Given the description of an element on the screen output the (x, y) to click on. 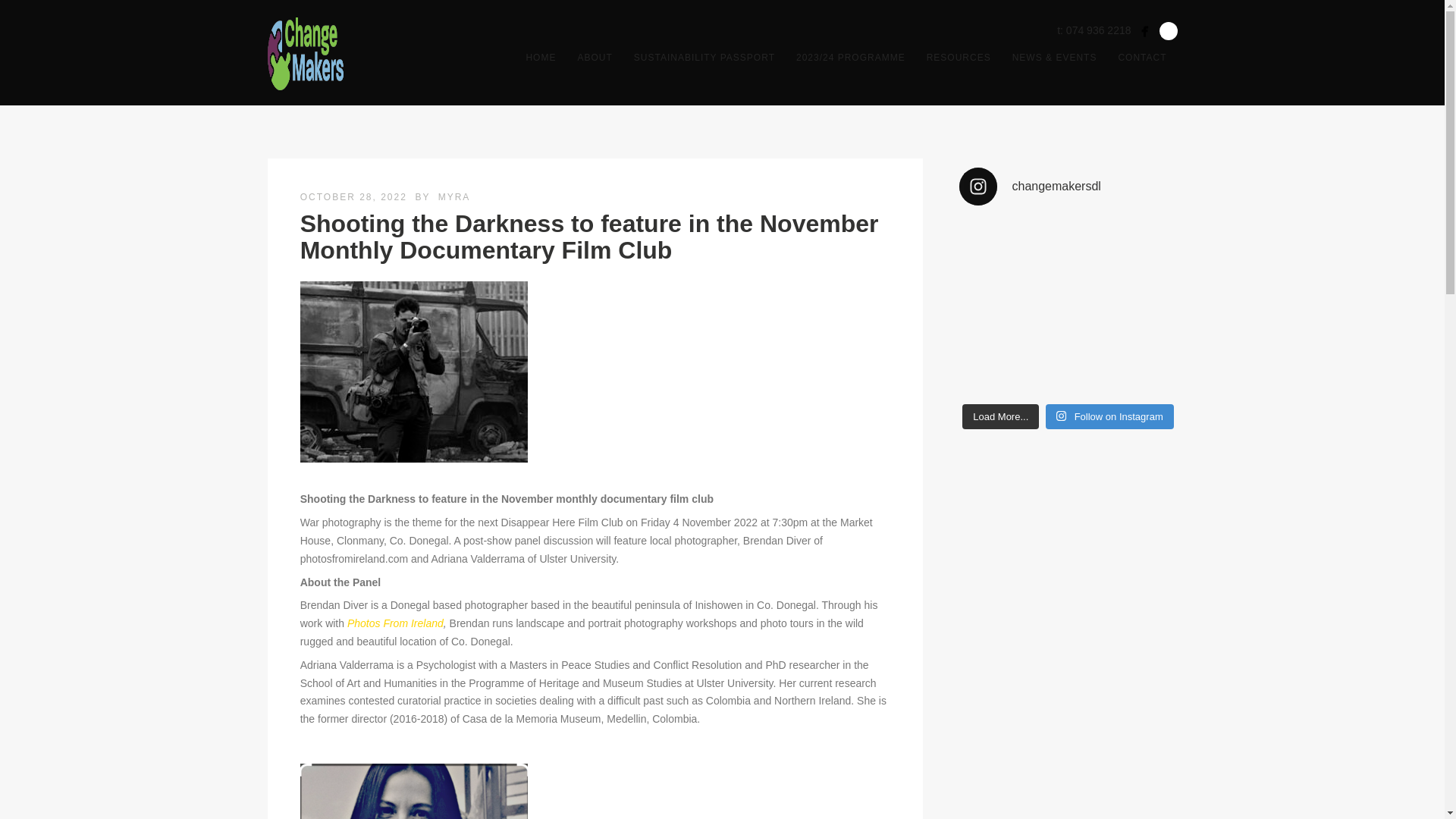
RESOURCES (958, 57)
MYRA (454, 196)
CONTACT (1141, 57)
HOME (540, 57)
Search (1167, 31)
SUSTAINABILITY PASSPORT (704, 57)
ABOUT (594, 57)
changemakersdl (1067, 186)
Photos From Ireland (395, 623)
Facebook (1143, 31)
